Given the description of an element on the screen output the (x, y) to click on. 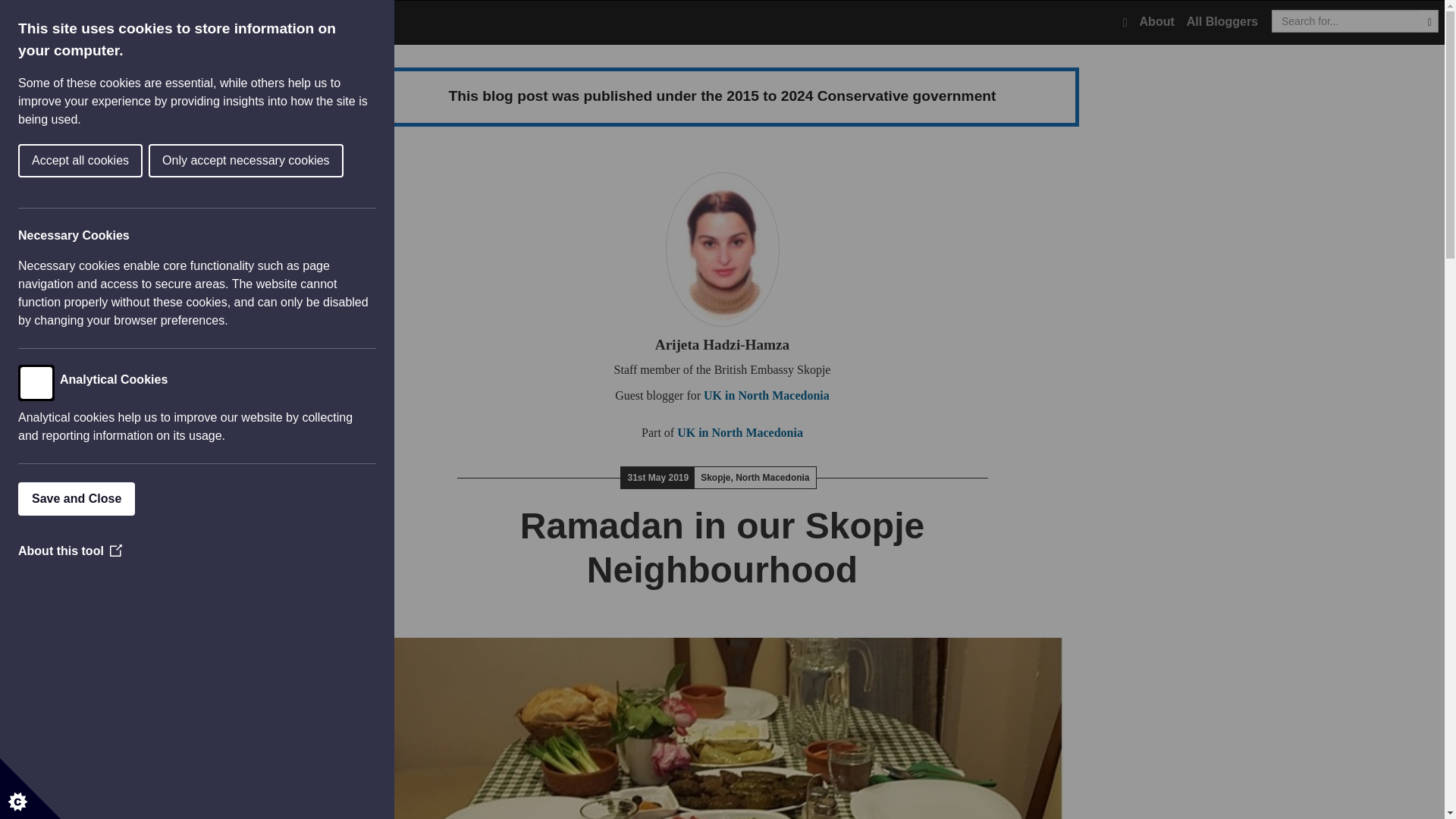
UK in North Macedonia (740, 431)
About (1157, 21)
All Bloggers (1221, 21)
UK in North Macedonia (766, 395)
All Bloggers (1221, 21)
View all posts in UK in North Macedonia (740, 431)
About (1157, 21)
